Given the description of an element on the screen output the (x, y) to click on. 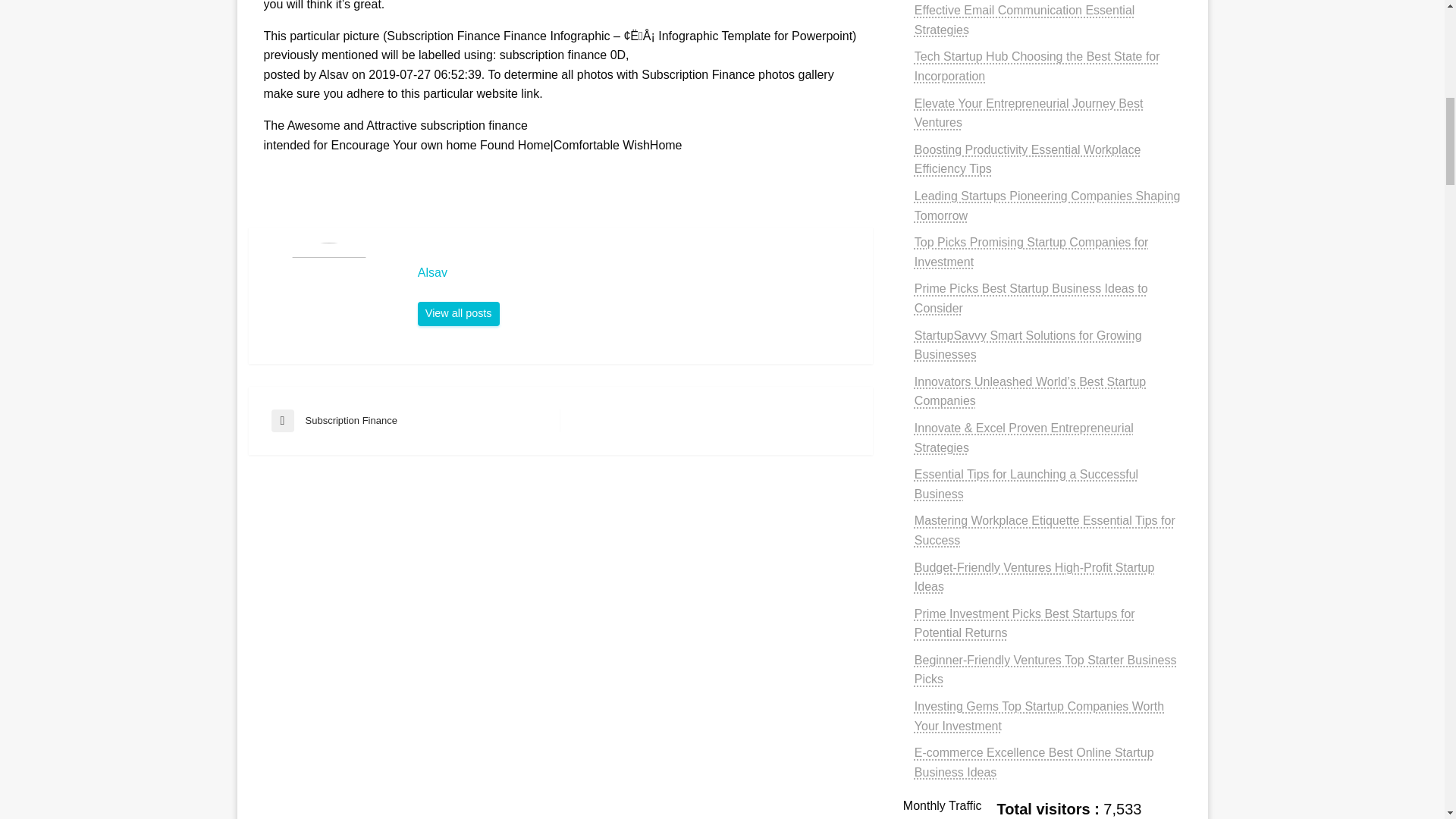
Alsav (637, 272)
Alsav (458, 313)
View all posts (458, 313)
Alsav (637, 272)
